Given the description of an element on the screen output the (x, y) to click on. 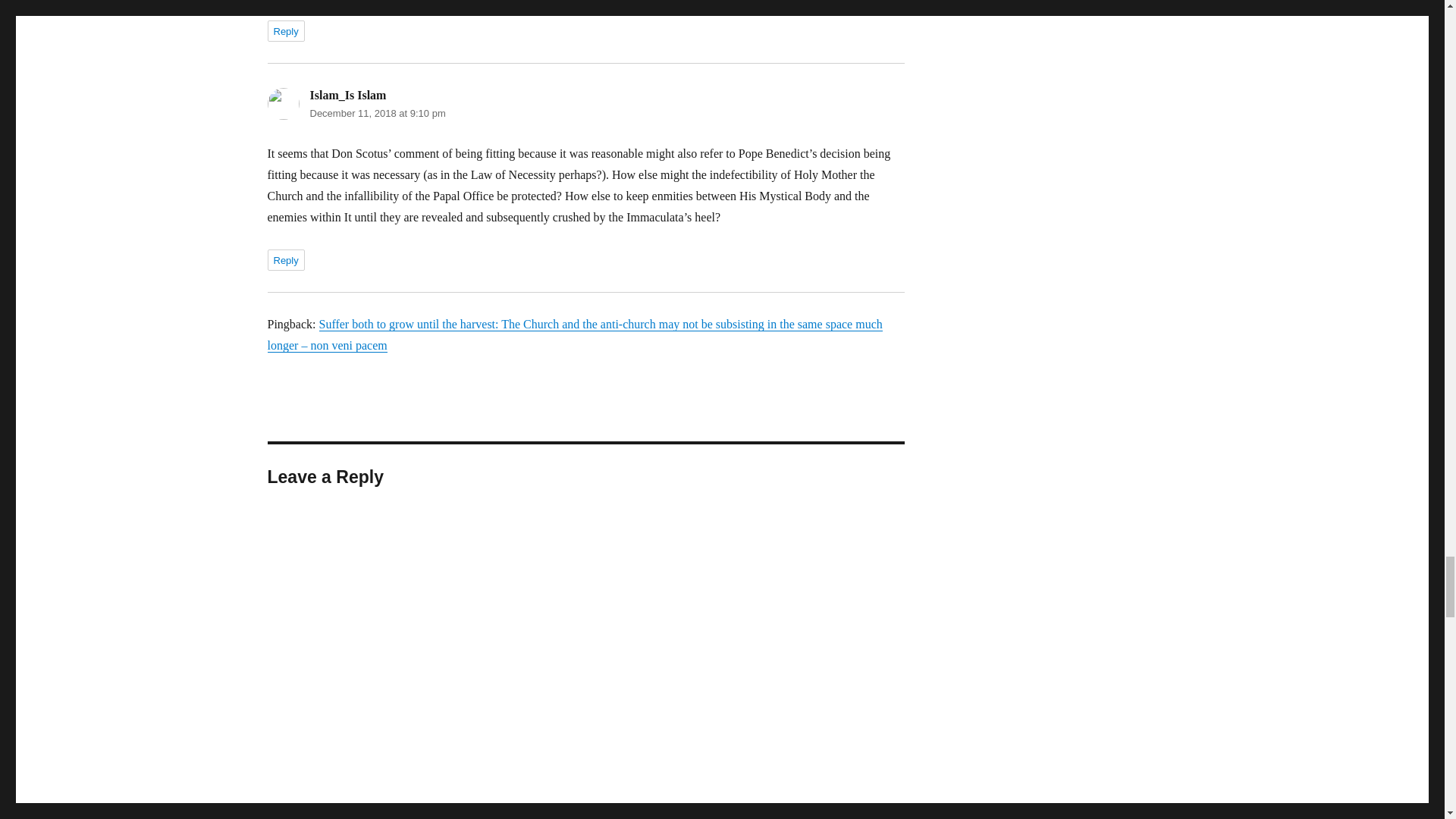
Reply (285, 260)
December 11, 2018 at 9:10 pm (376, 112)
Reply (285, 30)
